Given the description of an element on the screen output the (x, y) to click on. 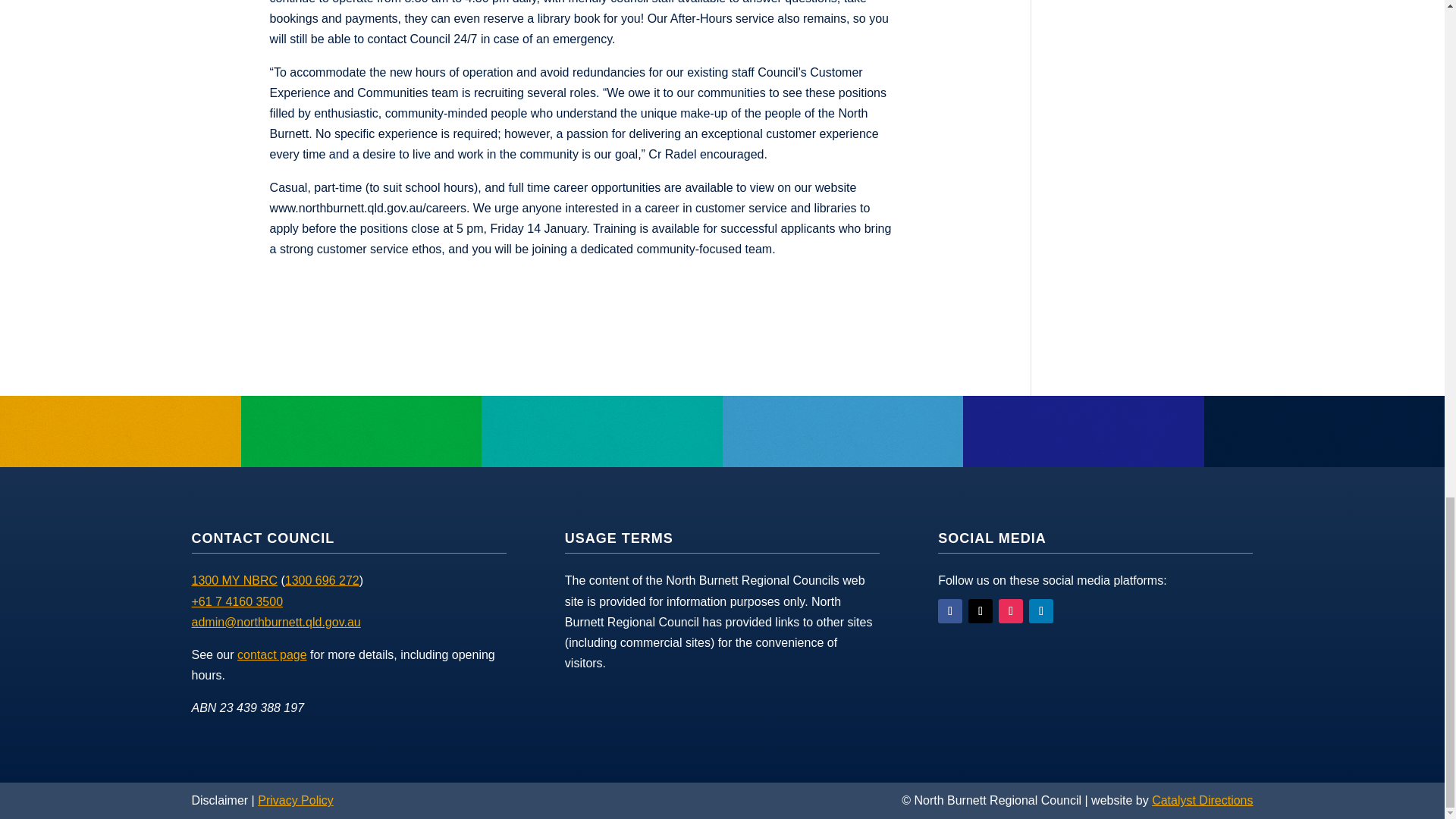
Follow on Facebook (949, 610)
Follow on LinkedIn (1040, 610)
Follow on Instagram (1010, 610)
Follow on X (980, 610)
